Given the description of an element on the screen output the (x, y) to click on. 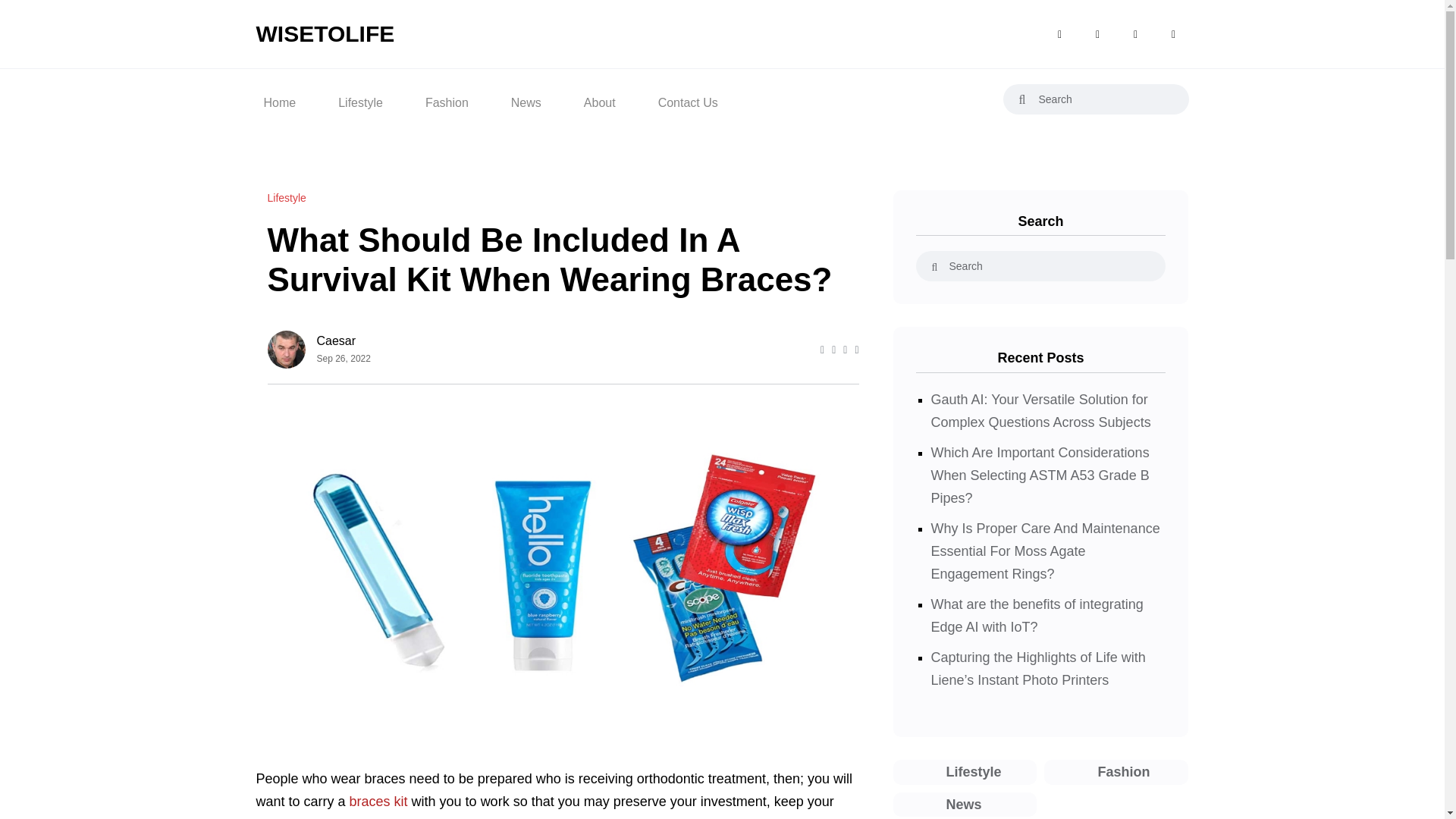
What are the benefits of integrating Edge AI with IoT? (1036, 615)
Contact Us (687, 98)
Fashion (1115, 771)
Fashion (446, 98)
Caesar (344, 340)
What are the benefits of integrating Edge AI with IoT? (1036, 615)
News (964, 804)
Lifestyle (964, 771)
